Given the description of an element on the screen output the (x, y) to click on. 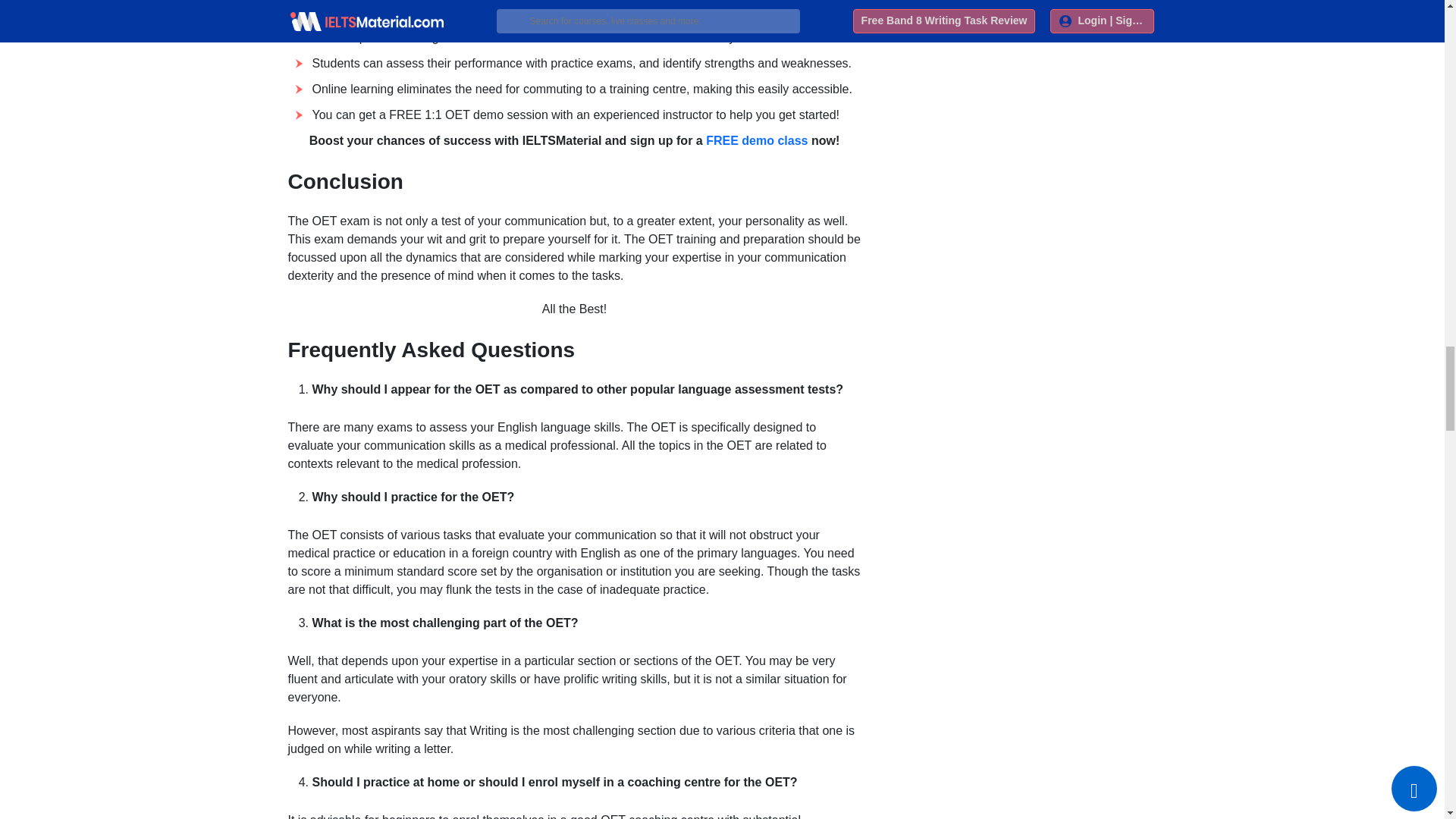
FREE demo class (757, 140)
